Given the description of an element on the screen output the (x, y) to click on. 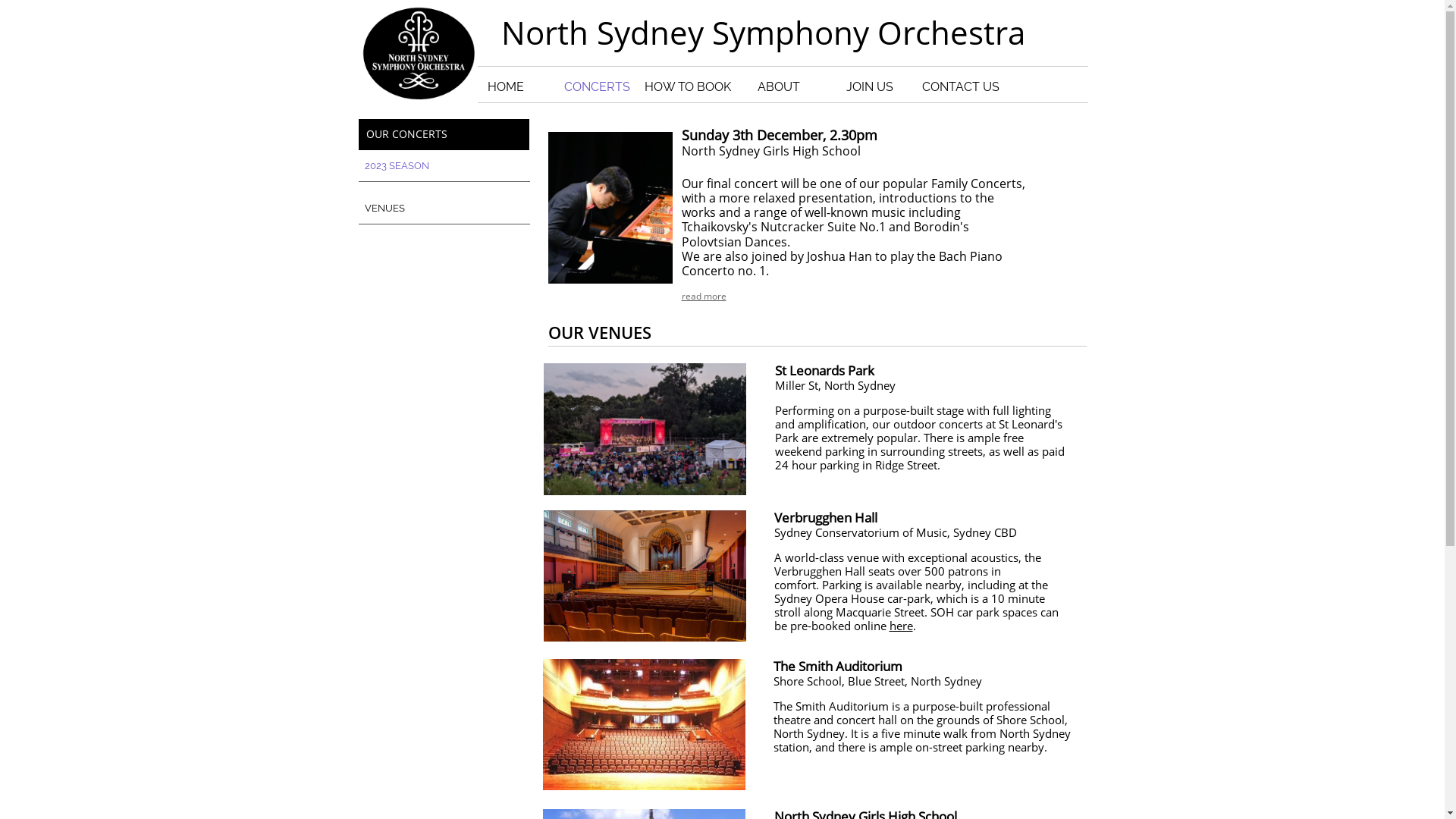
HOW TO BOOK Element type: text (687, 86)
read more Element type: text (702, 295)
HOME Element type: text (505, 86)
North Sydney Symphony Orchestra Element type: text (762, 32)
CONTACT US Element type: text (960, 86)
JOIN US Element type: text (869, 86)
ABOUT Element type: text (778, 86)
CONCERTS Element type: text (596, 86)
here Element type: text (900, 625)
